Given the description of an element on the screen output the (x, y) to click on. 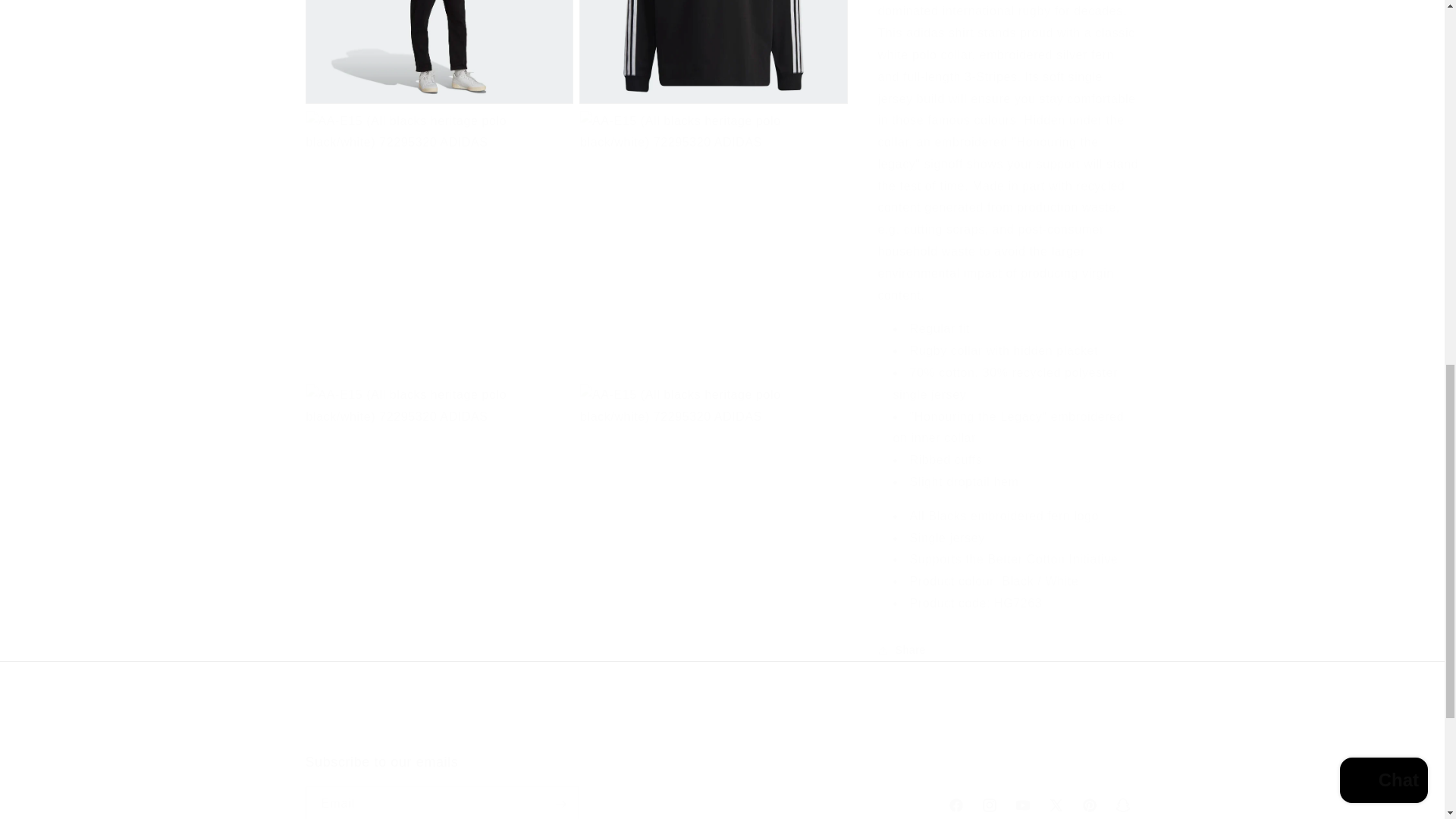
Open media 2 in modal (438, 44)
Open media 5 in modal (713, 228)
Open media 4 in modal (438, 228)
Open media 3 in modal (713, 44)
Open media 6 in modal (438, 502)
Open media 7 in modal (713, 502)
